Given the description of an element on the screen output the (x, y) to click on. 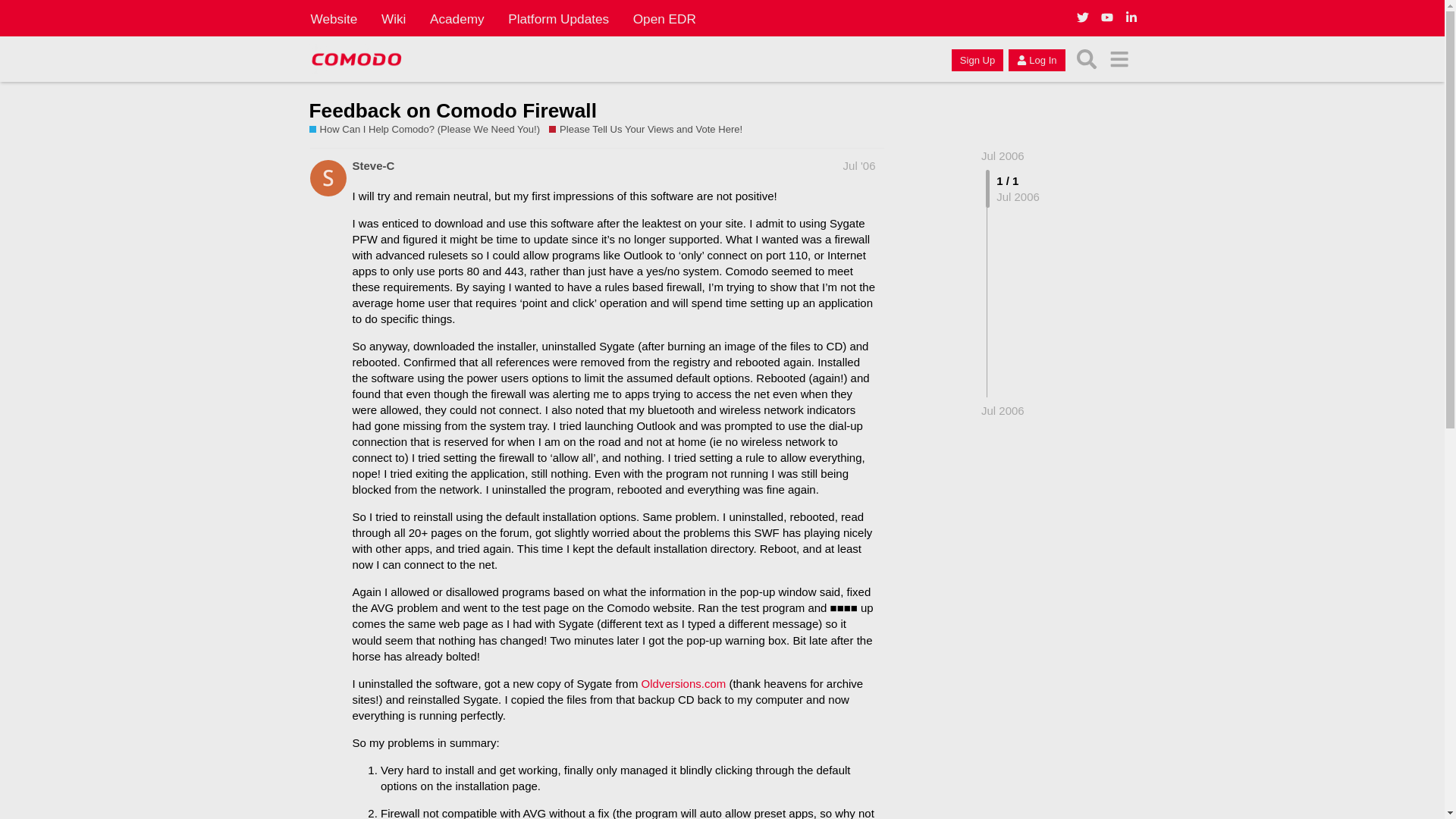
Post date (859, 164)
Platform Updates (558, 18)
Please Tell Us Your Views and Vote Here! (645, 129)
Website (333, 18)
Open EDR (664, 18)
menu (1119, 59)
Search (1086, 59)
Jul 8, 2006 11:28 pm (1003, 410)
Sign Up (977, 60)
Feedback on Comodo Firewall (452, 110)
Platform Updates (558, 18)
Website (333, 18)
Jul 2006 (1003, 155)
Log In (1036, 60)
Wiki (393, 18)
